Given the description of an element on the screen output the (x, y) to click on. 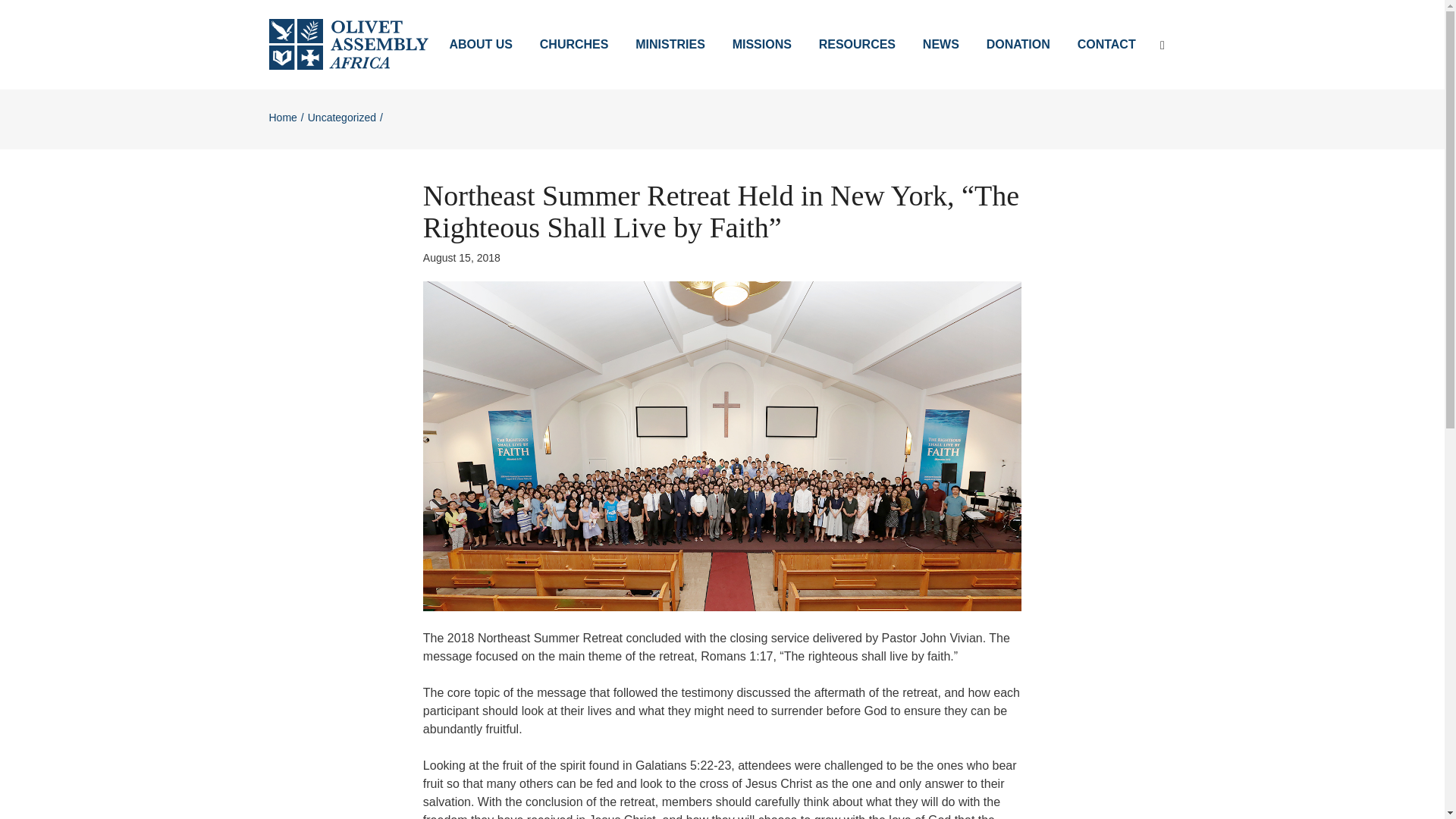
MISSIONS (762, 44)
ABOUT US (480, 44)
CONTACT (1107, 44)
CHURCHES (573, 44)
NEWS (940, 44)
RESOURCES (856, 44)
Home (282, 117)
Home (282, 117)
DONATION (1018, 44)
MINISTRIES (669, 44)
